Given the description of an element on the screen output the (x, y) to click on. 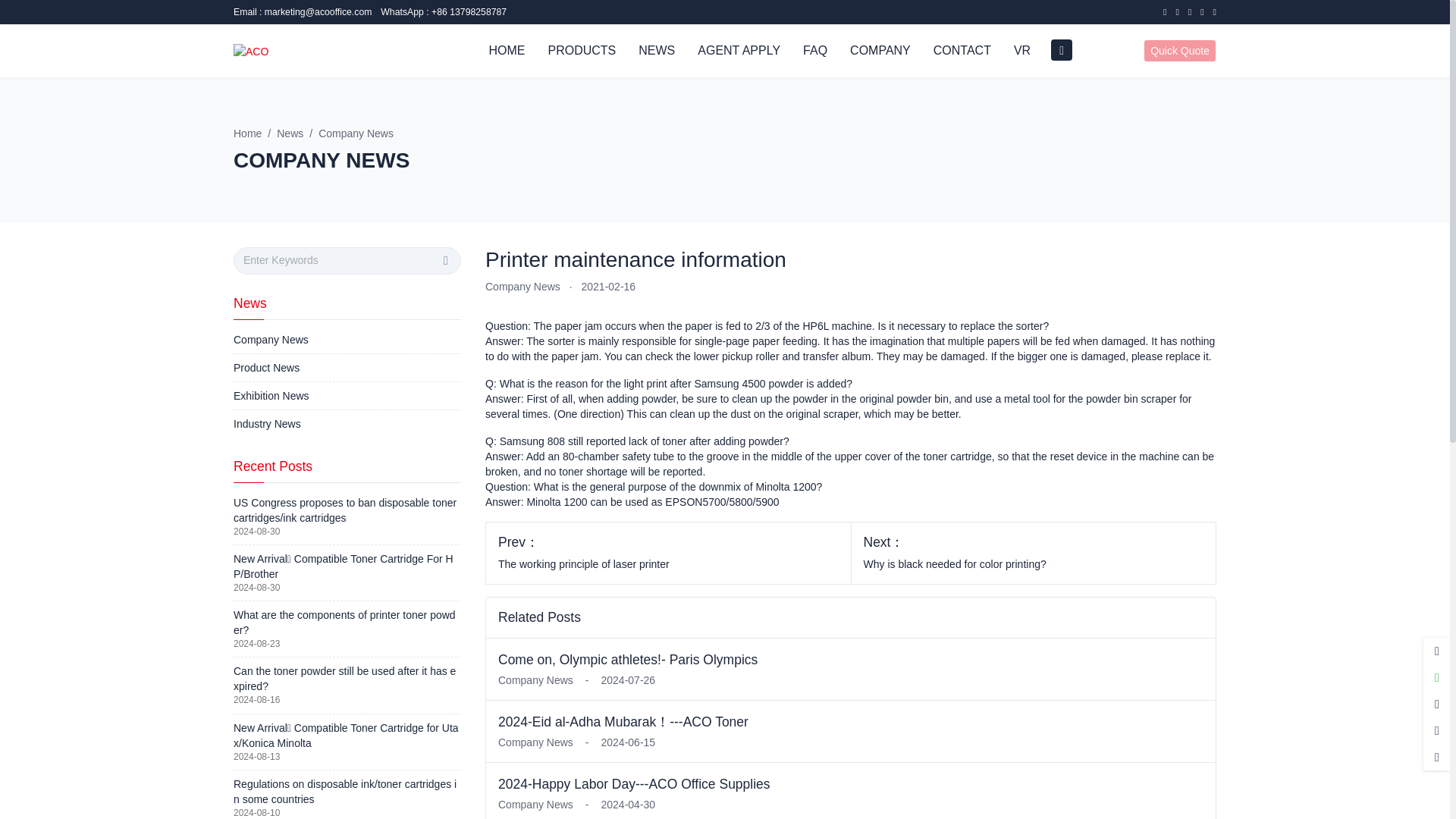
Company News (535, 679)
Company News (535, 804)
Company News (522, 286)
PRODUCTS (581, 50)
Company News (535, 742)
HOME (506, 50)
